Given the description of an element on the screen output the (x, y) to click on. 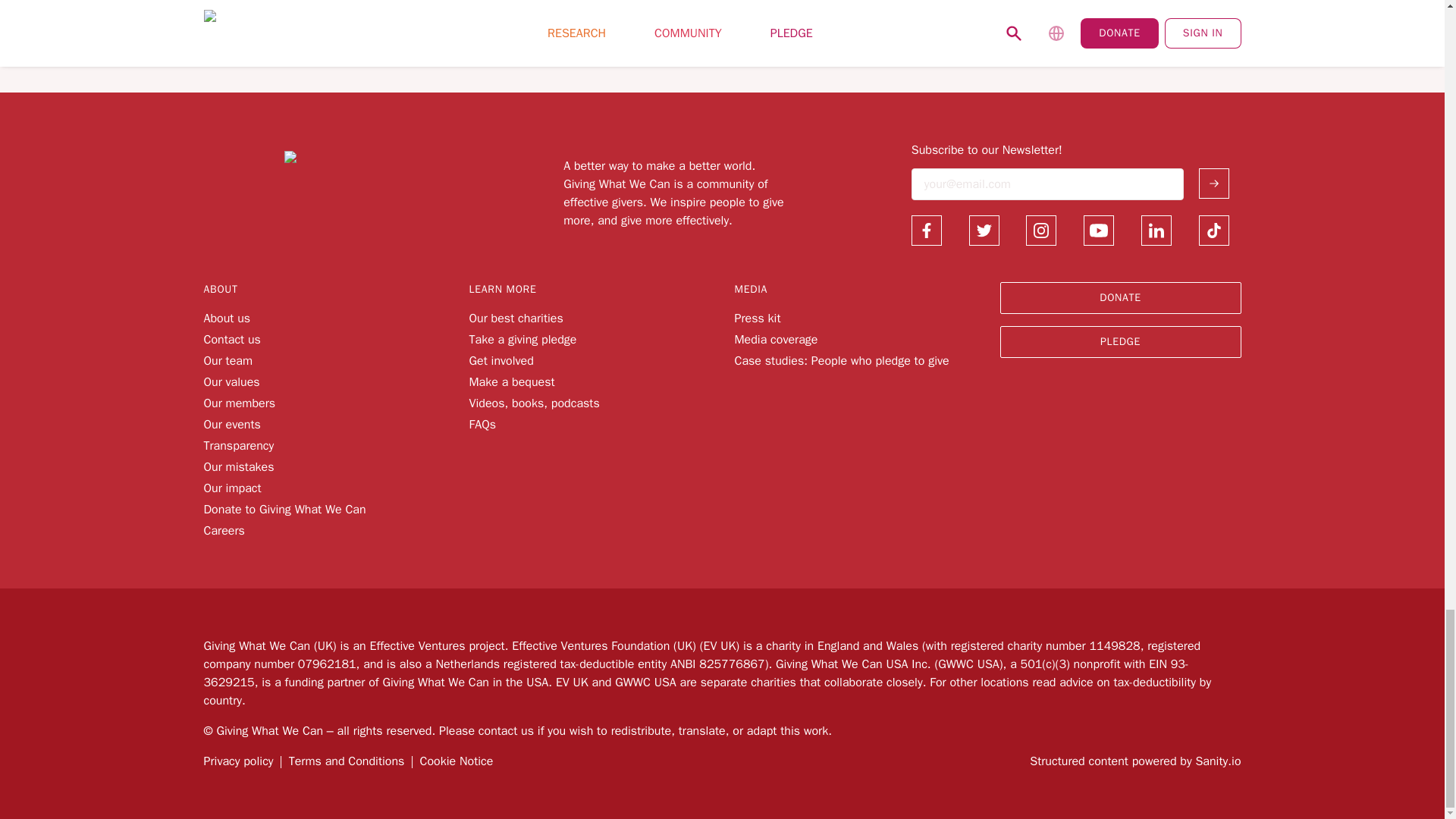
Submit (1213, 183)
Instagram (1041, 230)
Youtube (1098, 230)
LinkedIn (1156, 230)
Tick Tock (1213, 230)
About us (226, 318)
Twitter (983, 230)
Facebook (926, 230)
Contact us (231, 339)
